Given the description of an element on the screen output the (x, y) to click on. 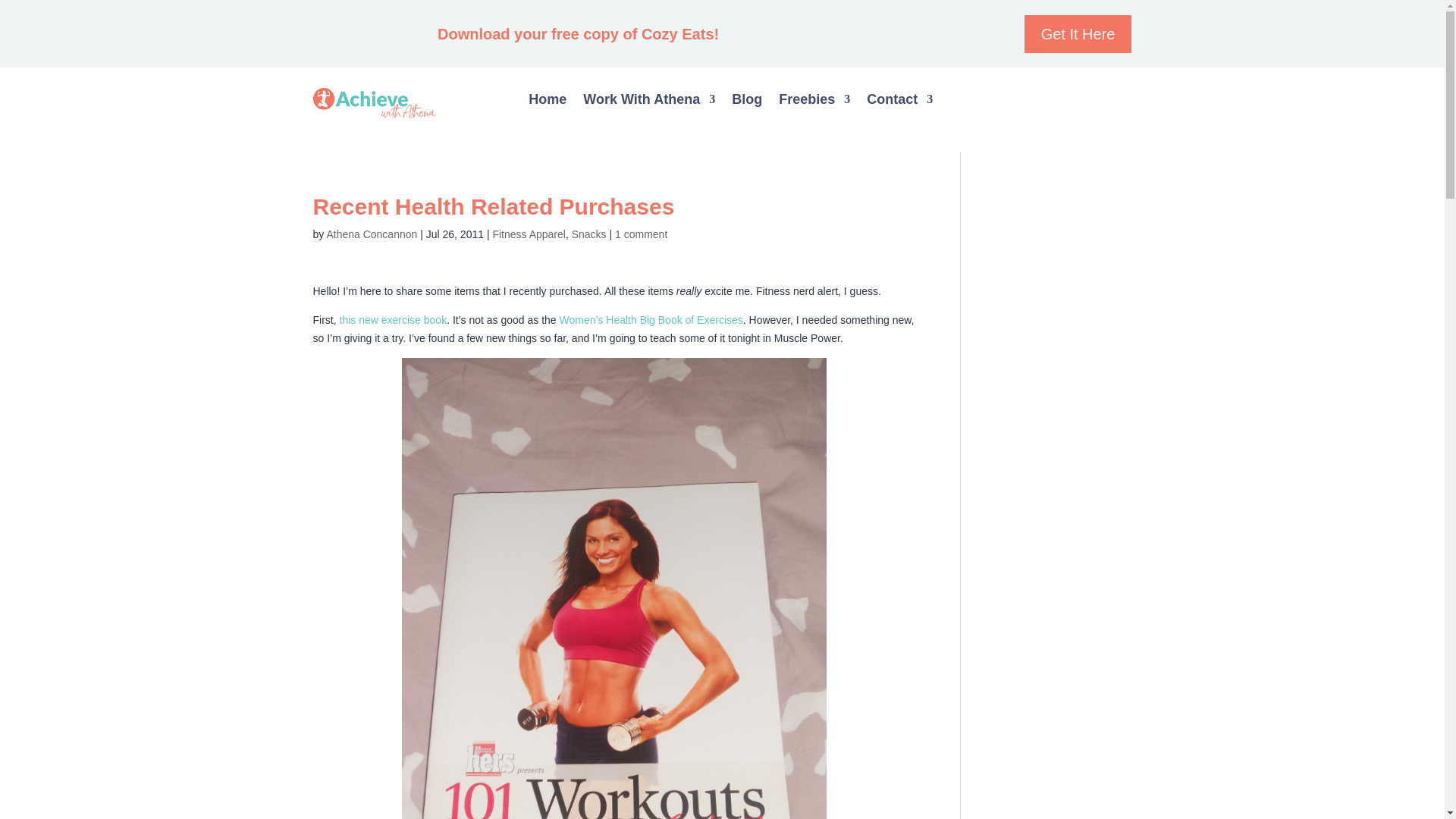
Get It Here (1078, 34)
Home (547, 102)
Work With Athena (648, 102)
Freebies (814, 102)
Posts by Athena Concannon (371, 234)
Contact (899, 102)
Blog (746, 102)
